Given the description of an element on the screen output the (x, y) to click on. 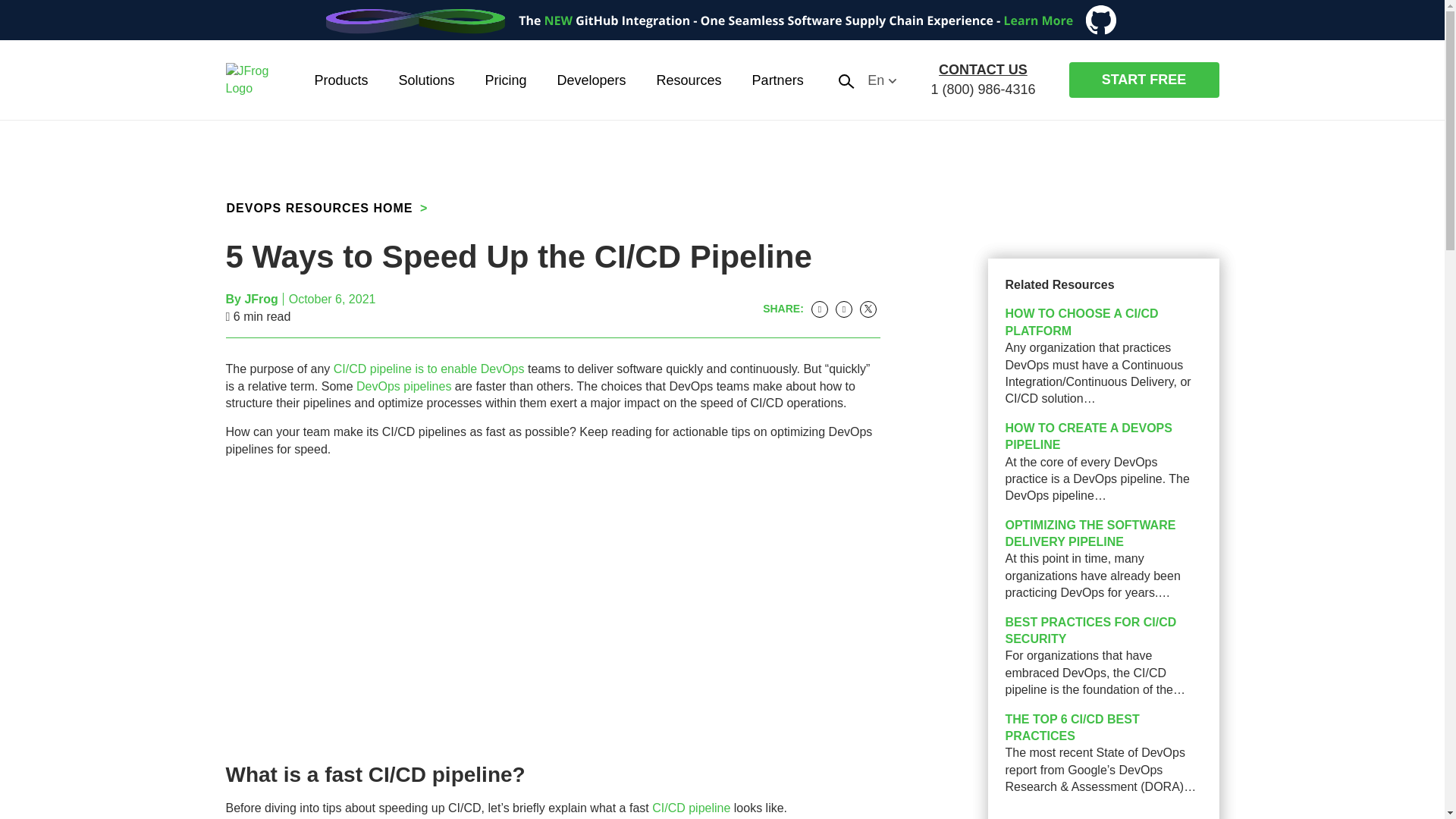
Resources (689, 79)
Partners (777, 79)
Products (340, 79)
Link to Optimizing the Software Delivery Pipeline (1091, 532)
Developers (591, 79)
Solutions (425, 79)
Resources (689, 79)
Solutions (425, 79)
Link to How to Create a DevOps Pipeline (1089, 436)
Partners (777, 79)
